Given the description of an element on the screen output the (x, y) to click on. 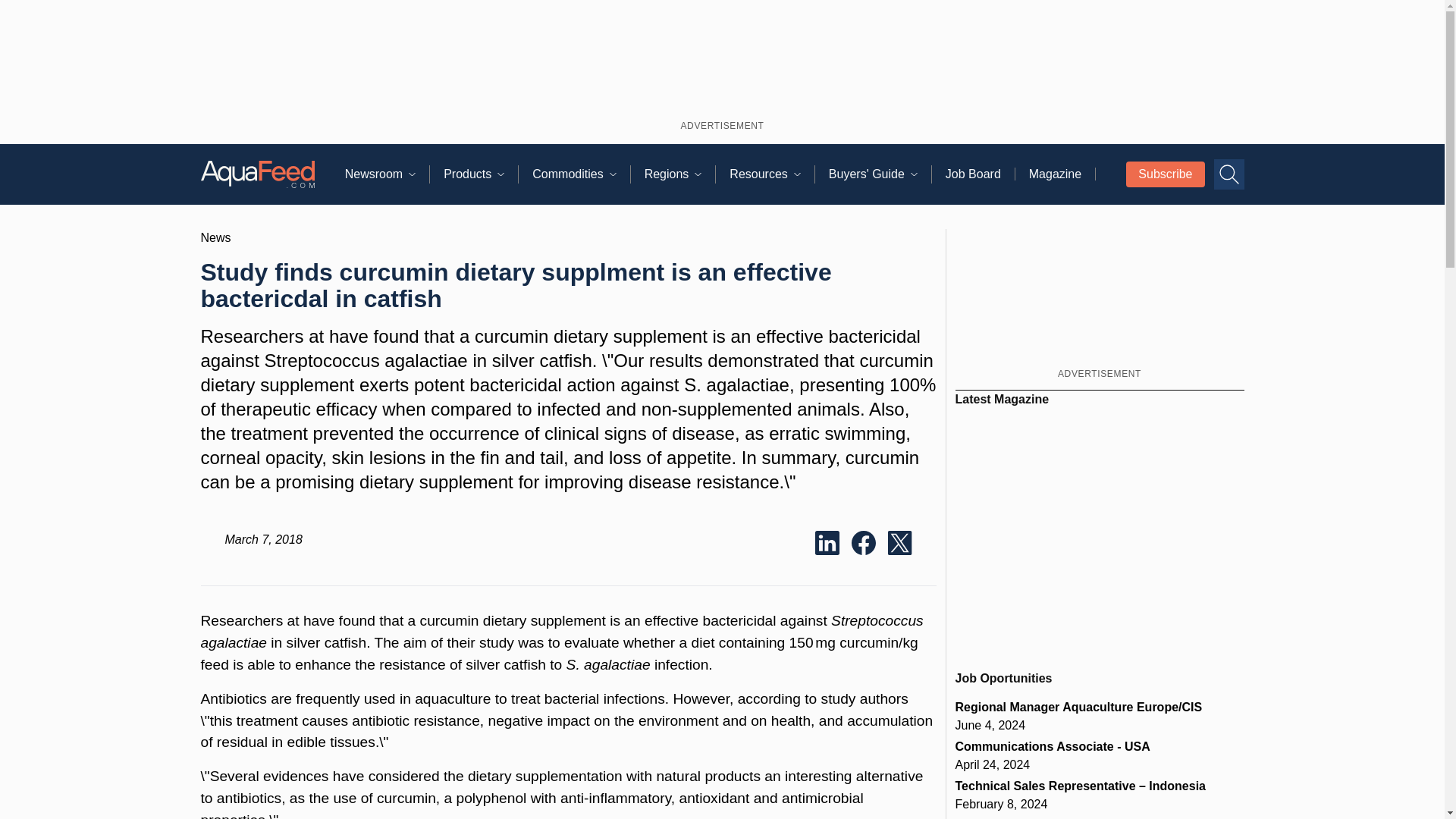
Regions (680, 174)
Buyers' Guide (879, 174)
Newsroom (387, 174)
Products (481, 174)
Magazine viewer (1099, 532)
Resources (771, 174)
Commodities (581, 174)
